Given the description of an element on the screen output the (x, y) to click on. 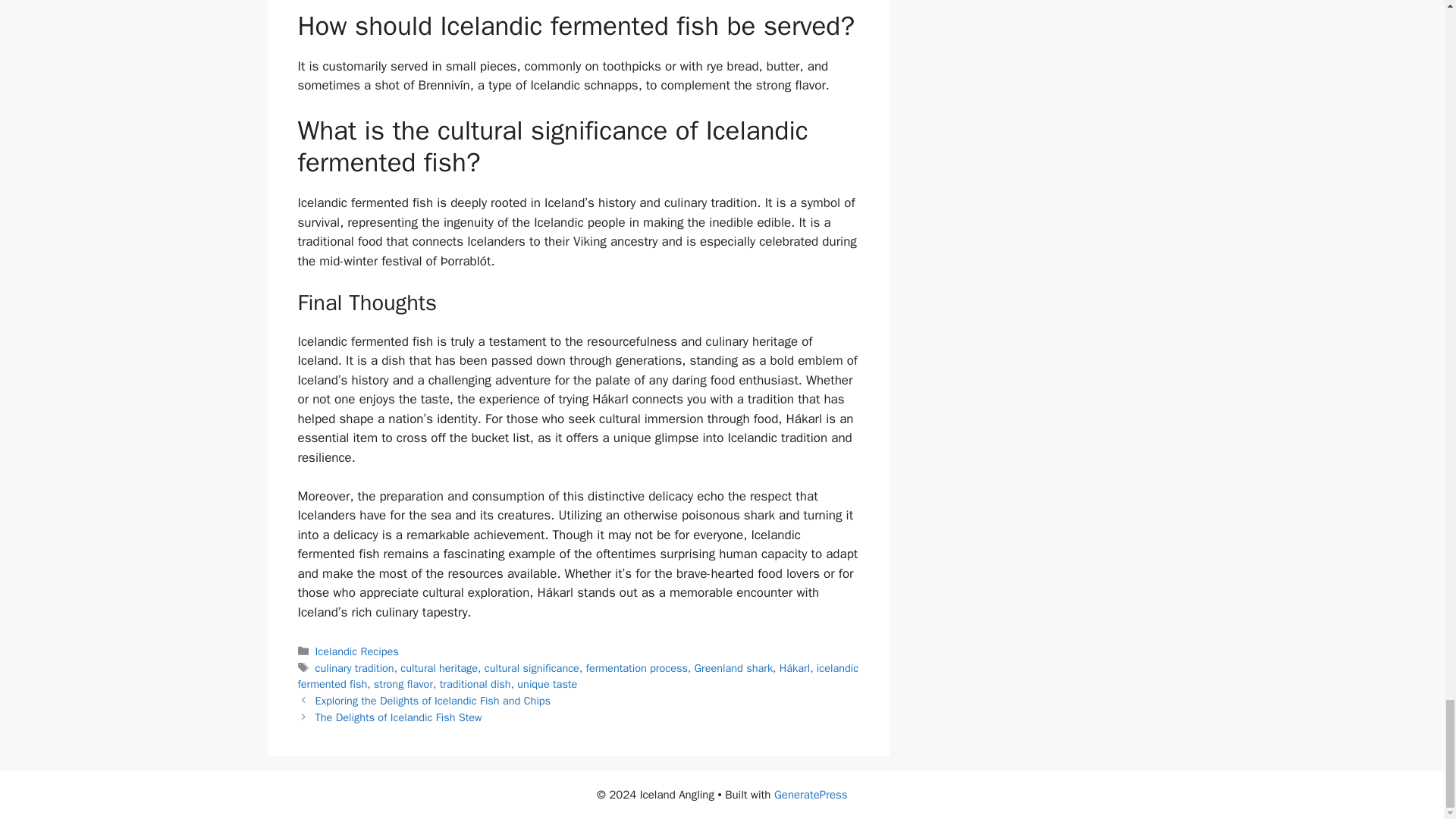
Icelandic Recipes (356, 651)
